Given the description of an element on the screen output the (x, y) to click on. 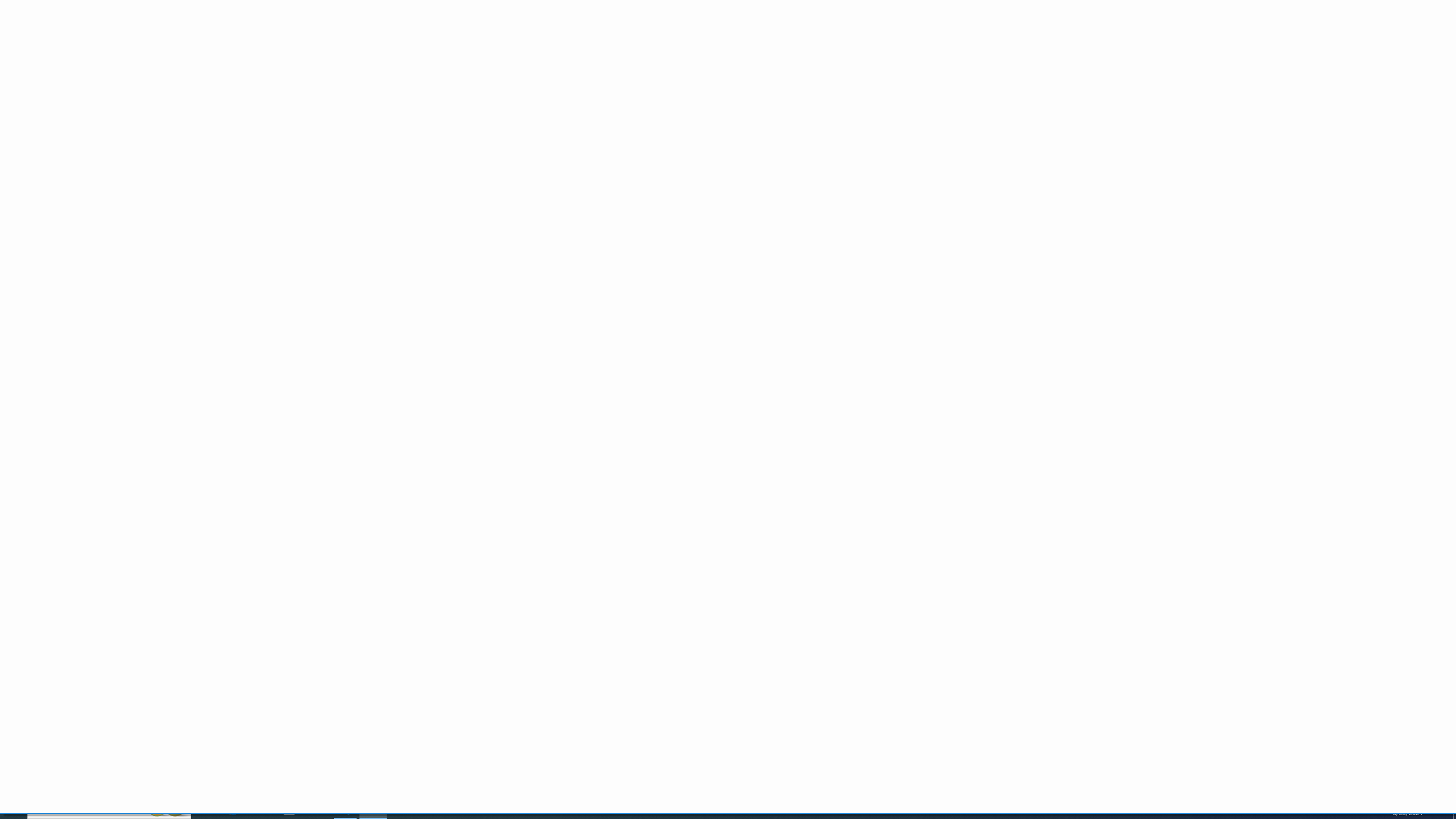
Formula Bar (799, 104)
Bottom Align (290, 49)
Font Color (210, 67)
Increase Font Size (227, 49)
Analyze Data (1110, 58)
Align Right (290, 67)
Font Size (207, 49)
Middle Align (276, 49)
Calculation (852, 49)
Sum (1006, 44)
Wrap Text (355, 49)
Top Align (262, 49)
